Given the description of an element on the screen output the (x, y) to click on. 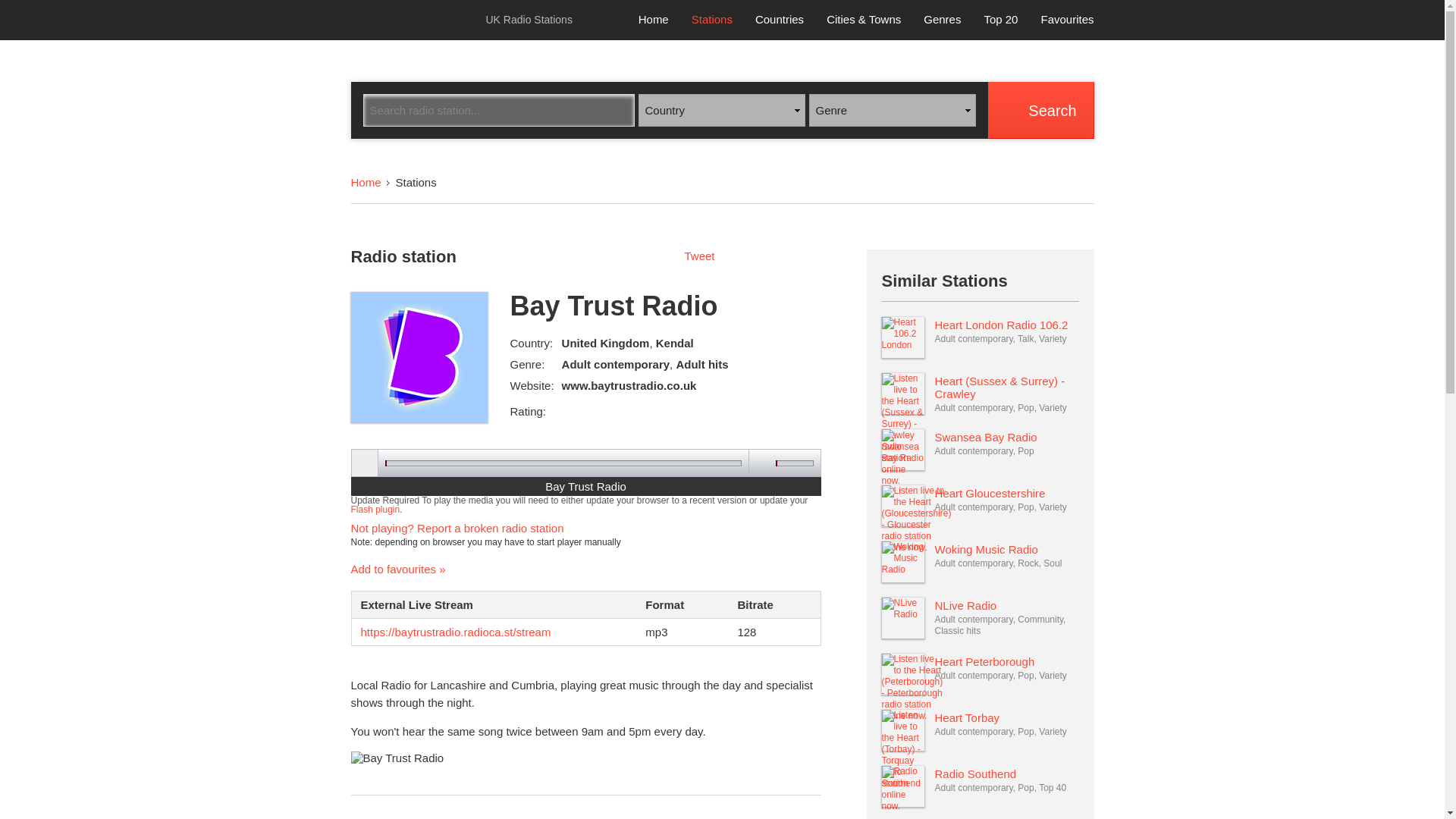
www.baytrustradio.co.uk (629, 385)
Not playing? Report a broken radio station (456, 527)
Favourites (1067, 19)
5 (607, 403)
Home (365, 182)
play (365, 462)
Tweet (699, 255)
Heart London Radio 106.2 (1000, 324)
Genres (941, 19)
Search (1040, 109)
